Given the description of an element on the screen output the (x, y) to click on. 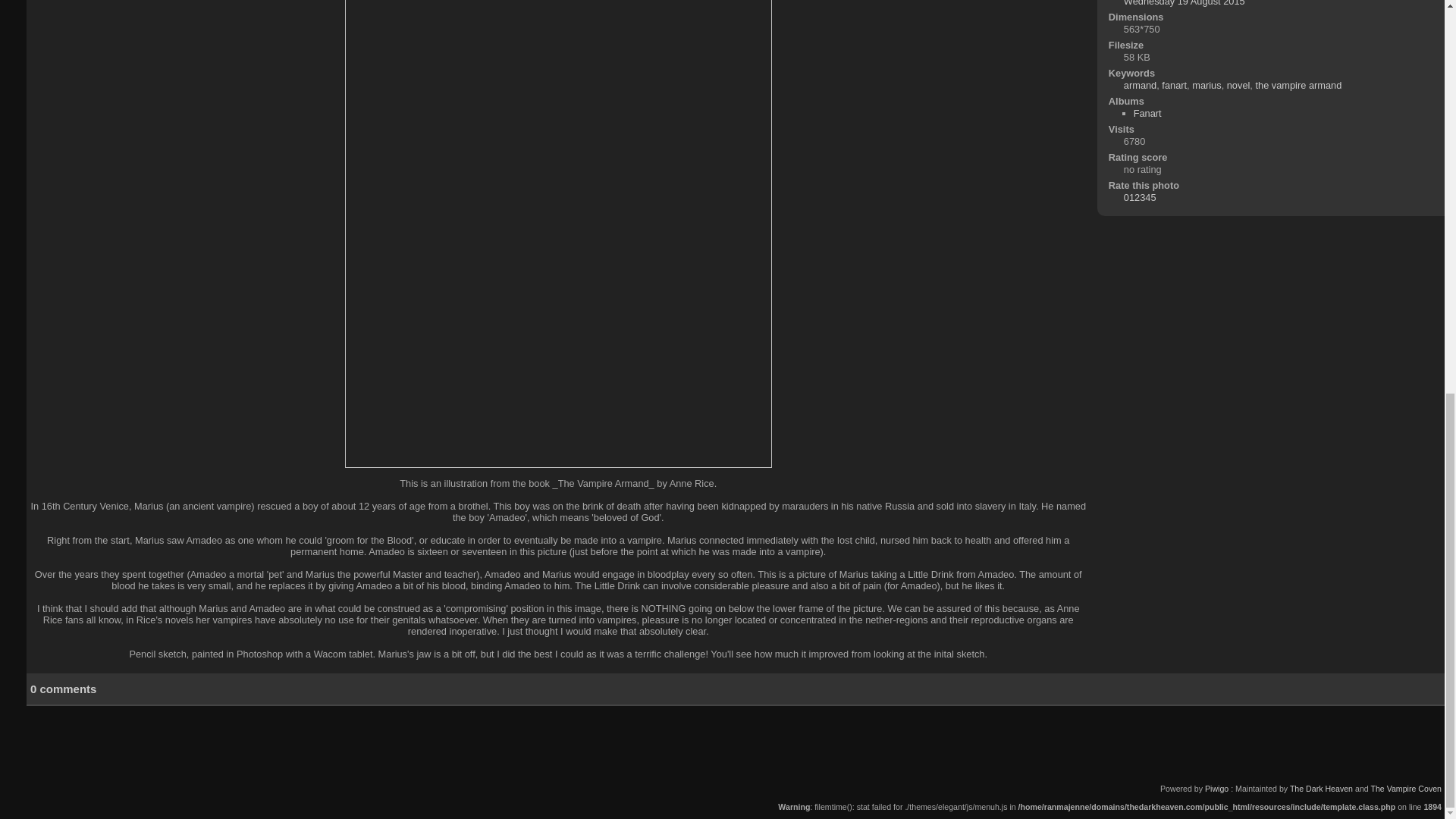
0 (1126, 197)
2 (1137, 197)
3 (1142, 197)
1 (1131, 197)
5 (1153, 197)
4 (1147, 197)
